Given the description of an element on the screen output the (x, y) to click on. 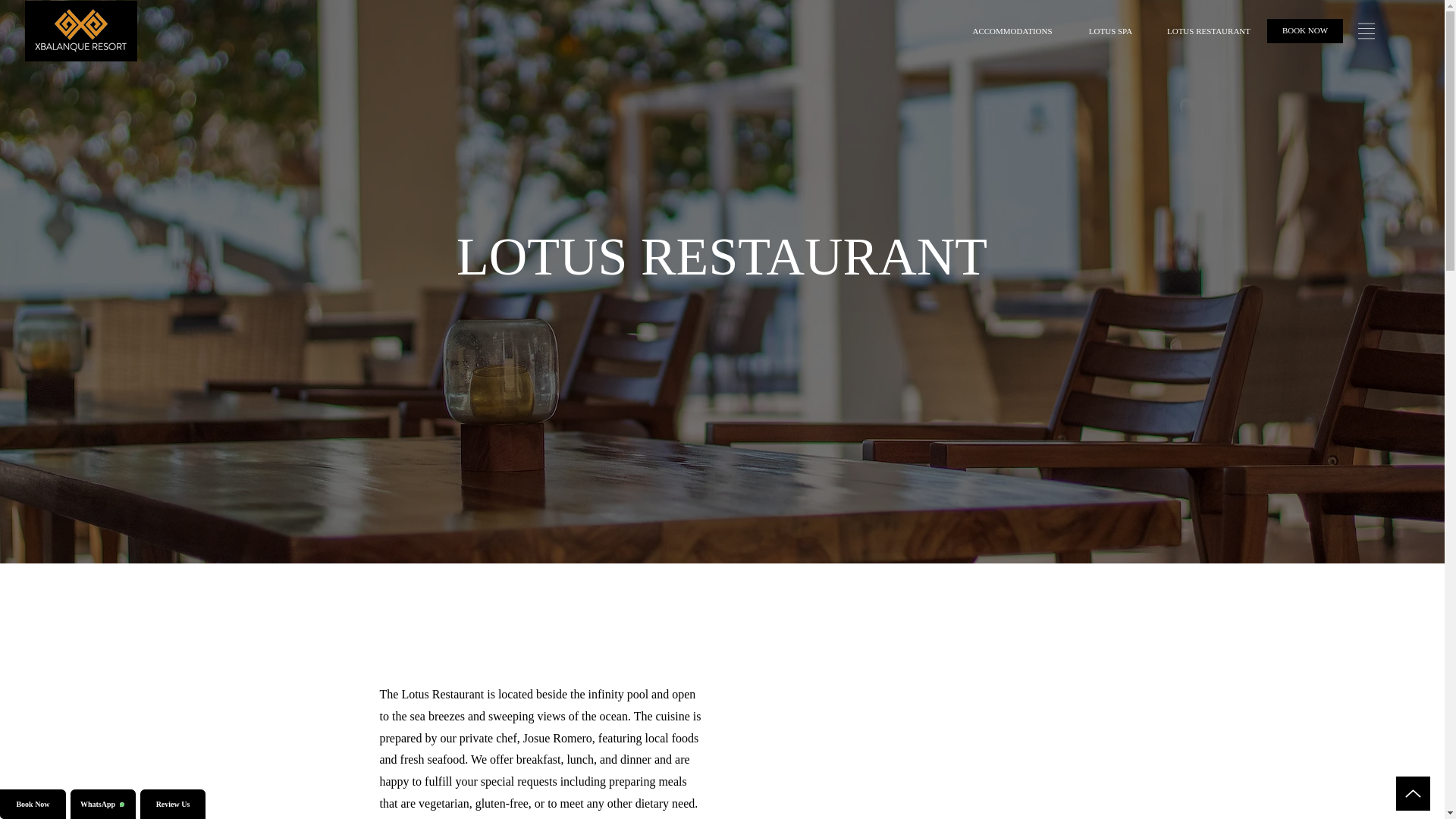
BOOK NOW (1304, 30)
LOTUS RESTAURANT (1208, 31)
LOTUS SPA (1110, 31)
Book Now (33, 803)
ACCOMMODATIONS (1011, 31)
Review Us (172, 803)
WhatsApp (102, 803)
Xbalanque Resort Logo (80, 30)
